Given the description of an element on the screen output the (x, y) to click on. 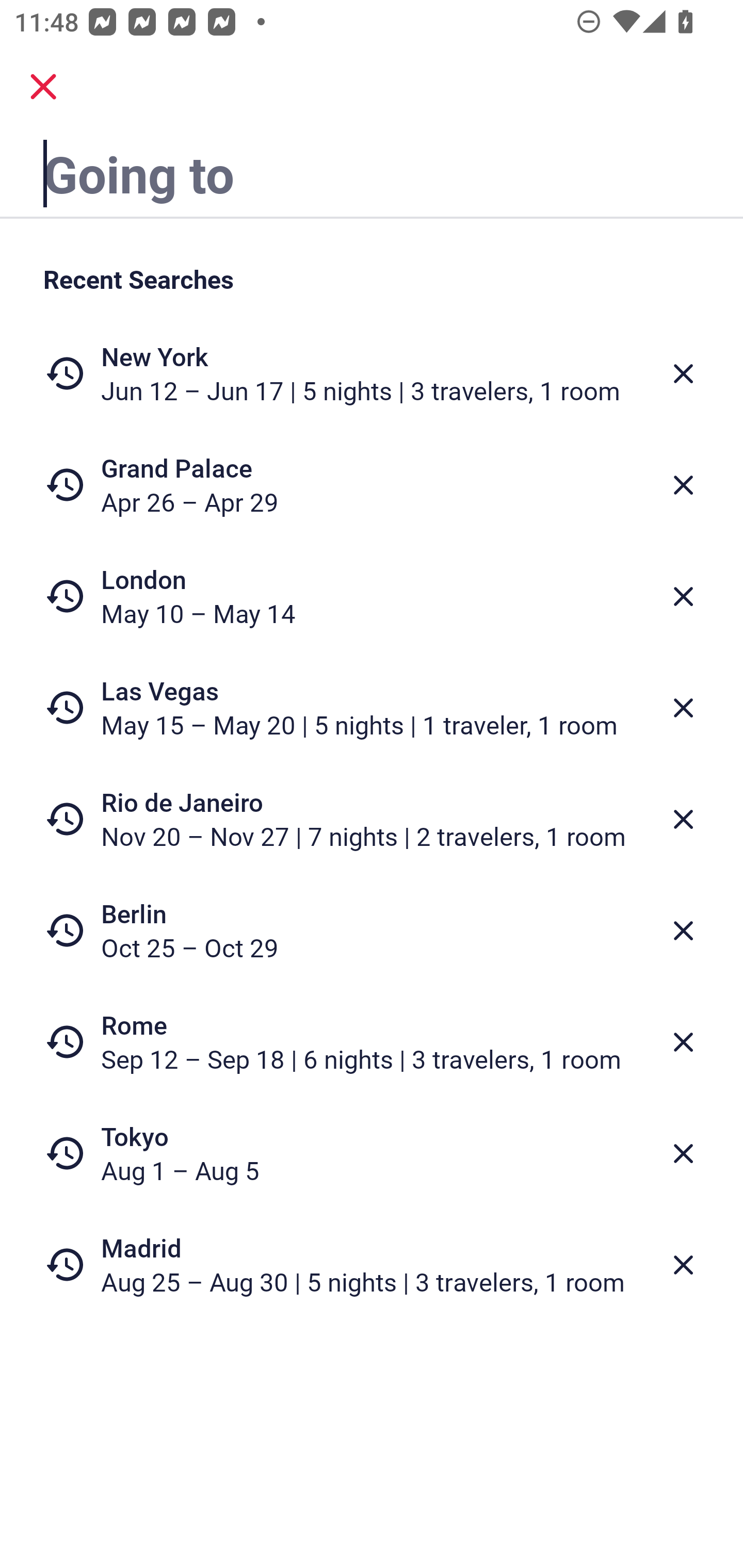
close. (43, 86)
Delete from recent searches (683, 373)
Grand Palace Apr 26 – Apr 29 (371, 484)
Delete from recent searches (683, 485)
London May 10 – May 14 (371, 596)
Delete from recent searches (683, 596)
Delete from recent searches (683, 707)
Delete from recent searches (683, 819)
Berlin Oct 25 – Oct 29 (371, 930)
Delete from recent searches (683, 930)
Delete from recent searches (683, 1041)
Tokyo Aug 1 – Aug 5 (371, 1152)
Delete from recent searches (683, 1153)
Delete from recent searches (683, 1265)
